Given the description of an element on the screen output the (x, y) to click on. 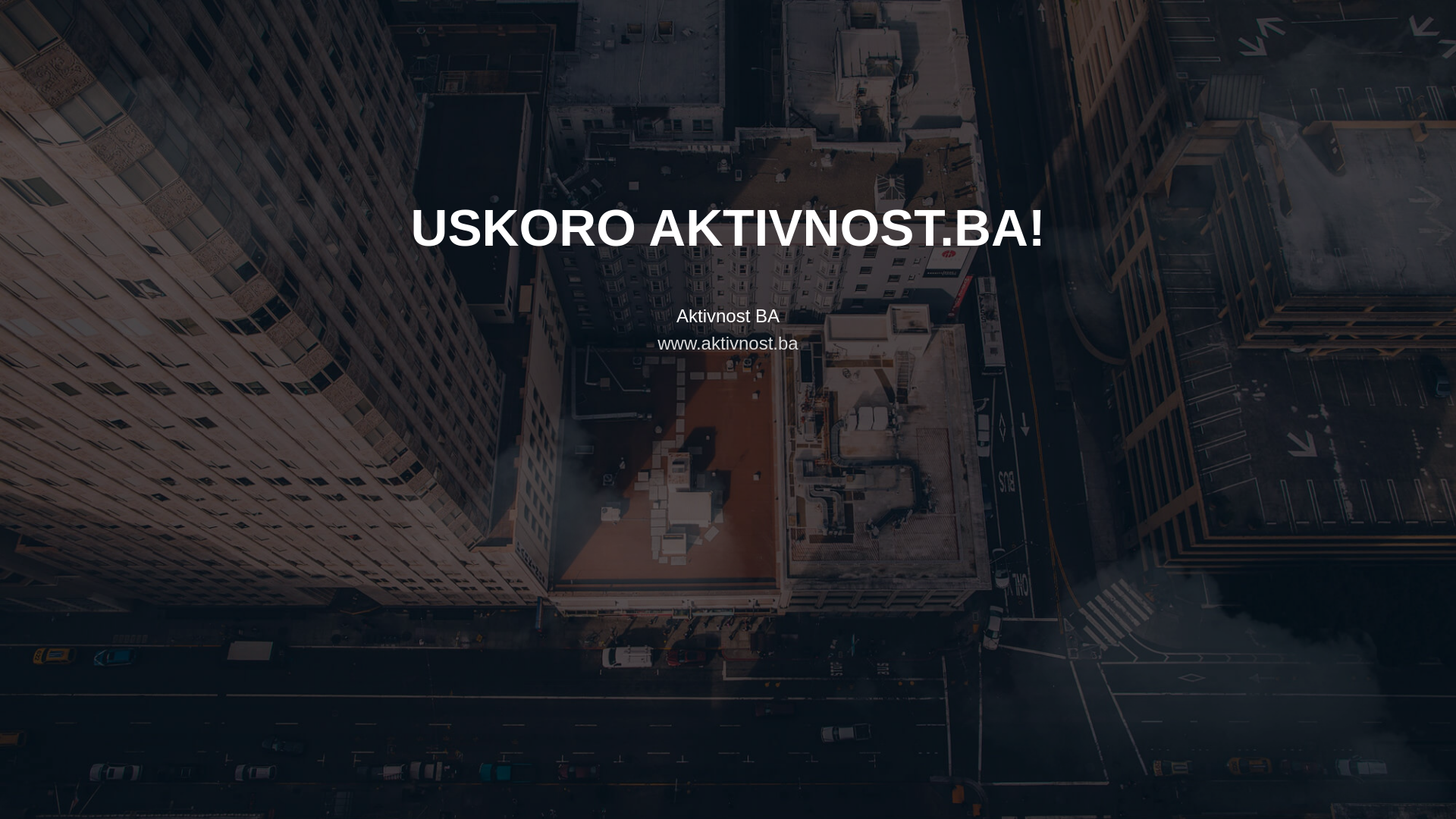
www.aktivnost.ba Element type: text (727, 342)
